Given the description of an element on the screen output the (x, y) to click on. 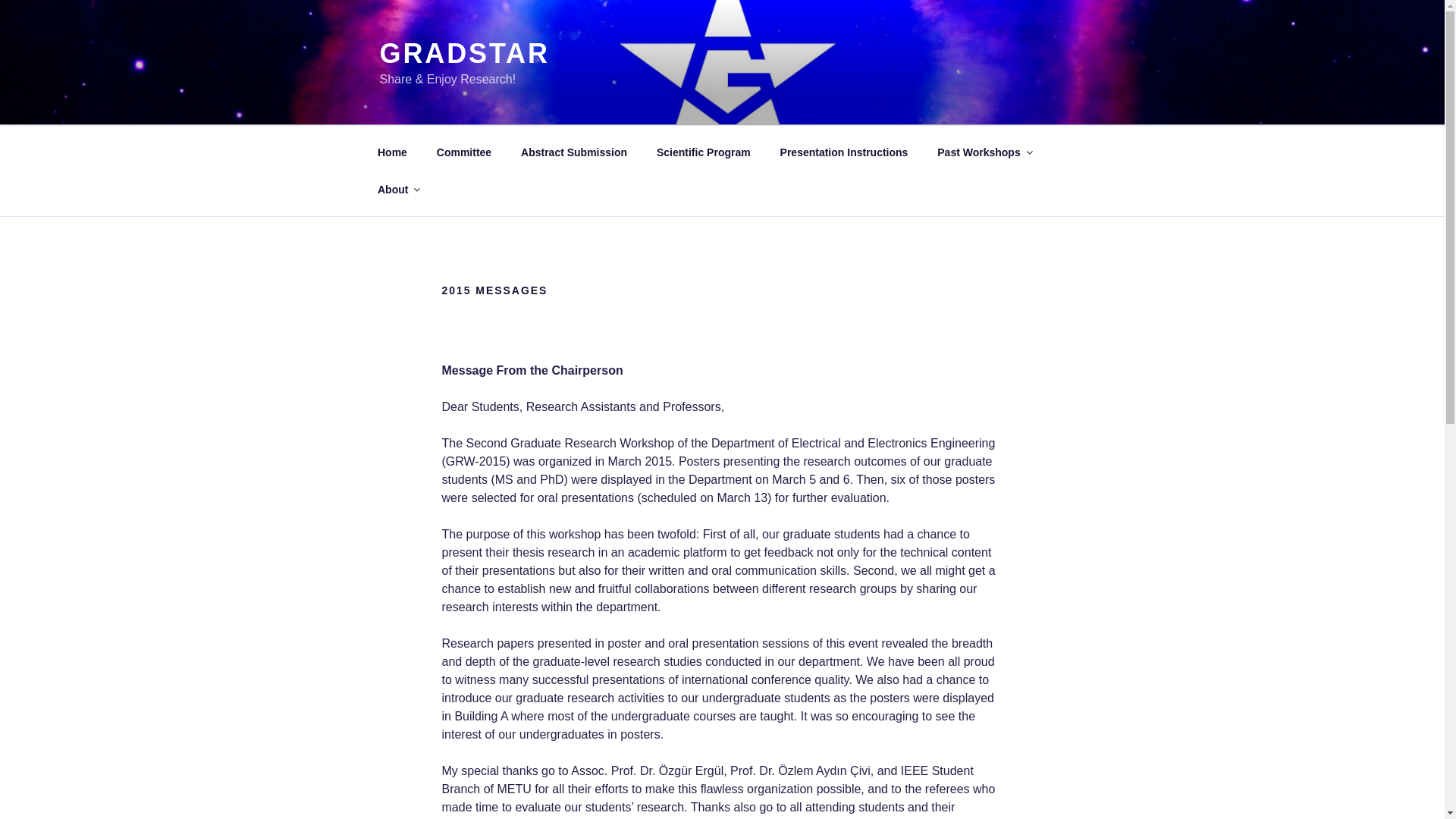
Committee (463, 151)
Home (392, 151)
Abstract Submission (574, 151)
GRADSTAR (463, 52)
Scientific Program (702, 151)
About (397, 189)
Presentation Instructions (844, 151)
Past Workshops (983, 151)
